Given the description of an element on the screen output the (x, y) to click on. 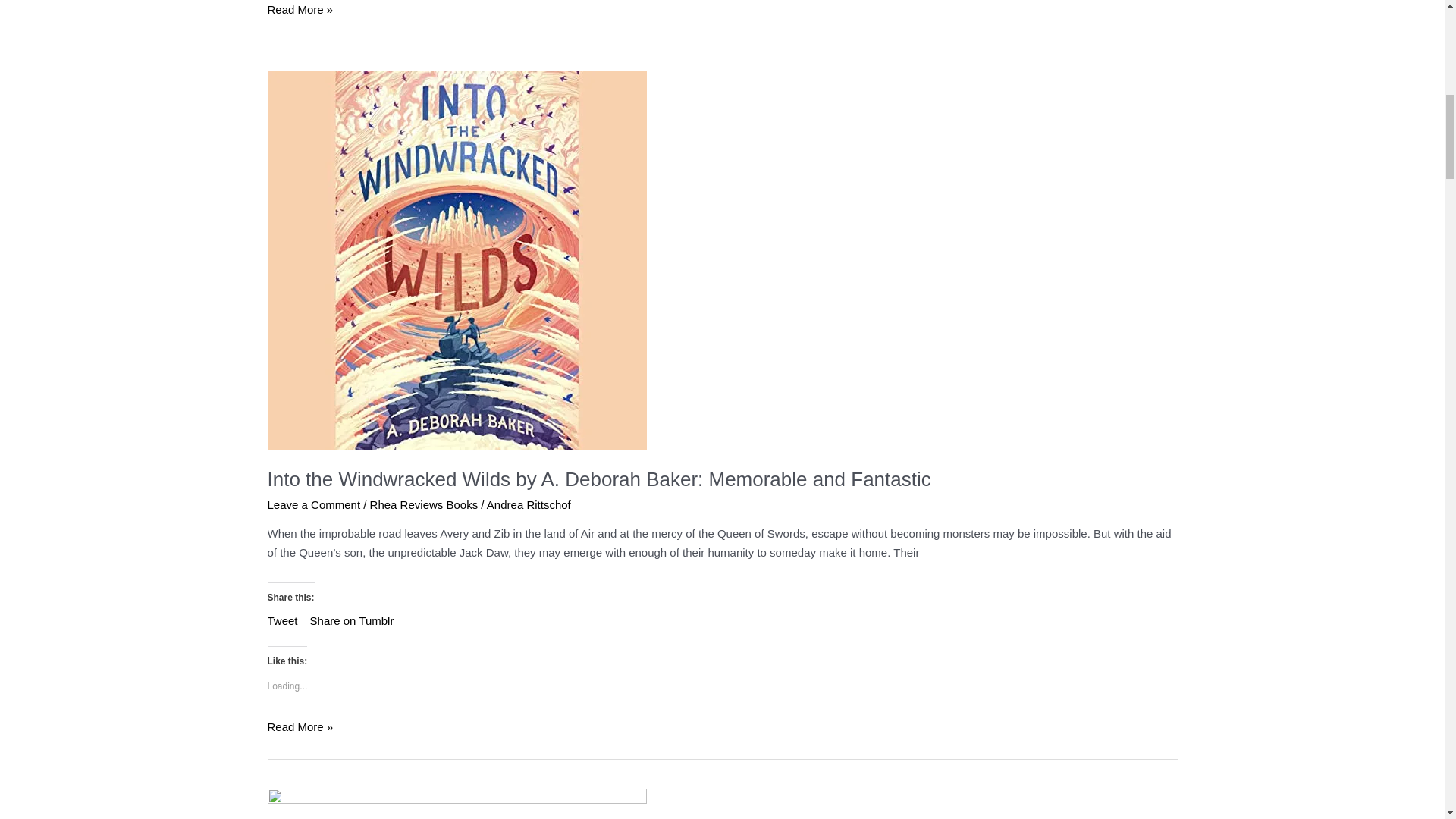
View all posts by Andrea Rittschof (528, 504)
Share on Tumblr (352, 618)
